Given the description of an element on the screen output the (x, y) to click on. 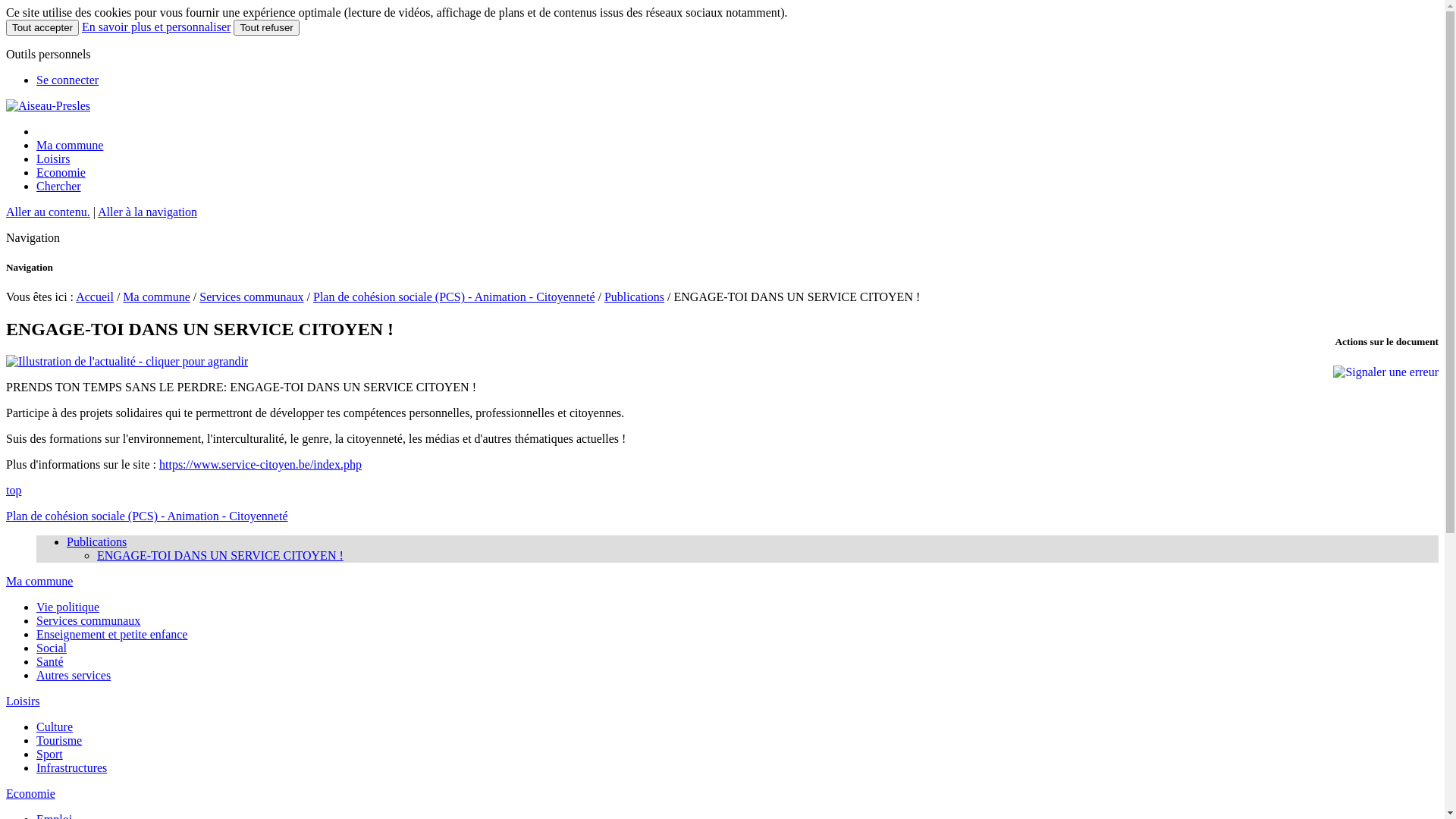
Loisirs Element type: text (52, 158)
Aller au contenu. Element type: text (48, 211)
Tourisme Element type: text (58, 740)
ENGAGE-TOI DANS UN SERVICE CITOYEN ! Element type: text (220, 555)
Aiseau-Presles Element type: hover (48, 105)
Se connecter Element type: text (67, 79)
Ma commune Element type: text (69, 144)
Signaler une erreur Element type: hover (1385, 372)
Ma commune Element type: text (39, 580)
Tout refuser Element type: text (265, 27)
Services communaux Element type: text (88, 620)
https://www.service-citoyen.be/index.php Element type: text (260, 464)
Autres services Element type: text (73, 674)
Loisirs Element type: text (22, 700)
top Element type: text (13, 489)
Services communaux Element type: text (251, 296)
Economie Element type: text (60, 172)
Social Element type: text (51, 647)
Enseignement et petite enfance Element type: text (111, 633)
Sport Element type: text (49, 753)
Chercher Element type: text (58, 185)
Vie politique Element type: text (67, 606)
Ma commune Element type: text (155, 296)
Tout accepter Element type: text (42, 27)
Culture Element type: text (54, 726)
Accueil Element type: text (94, 296)
Infrastructures Element type: text (71, 767)
Aiseau-Presles Element type: hover (48, 105)
Publications Element type: text (634, 296)
Publications Element type: text (96, 541)
ENGAGE-TOI DANS UN SERVICE CITOYEN ! Element type: hover (126, 361)
Economie Element type: text (30, 793)
En savoir plus et personnaliser Element type: text (155, 26)
